Given the description of an element on the screen output the (x, y) to click on. 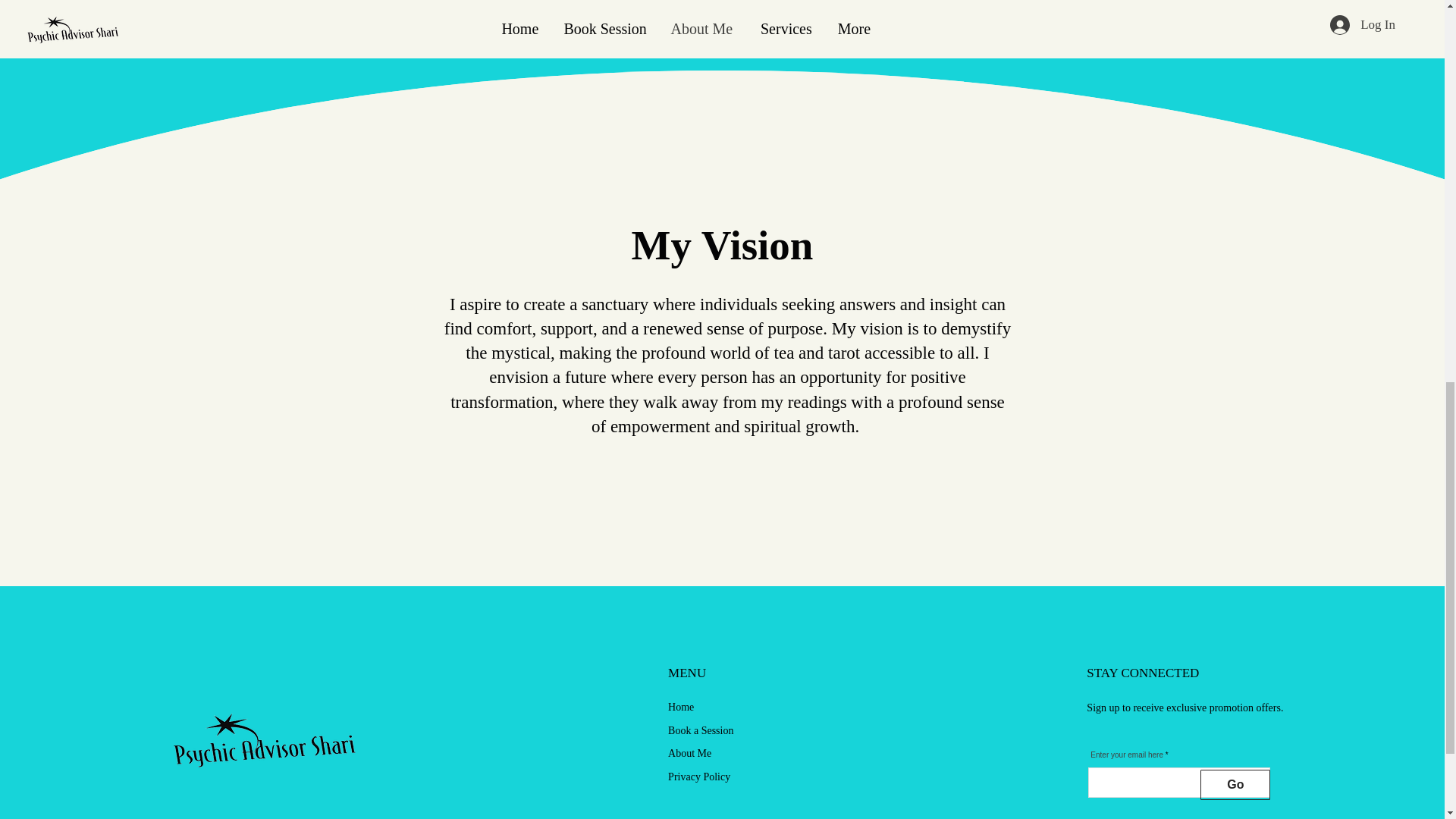
About Me (689, 753)
Home (681, 706)
Privacy Policy (699, 776)
Go (1234, 784)
Book a Session (700, 730)
